Given the description of an element on the screen output the (x, y) to click on. 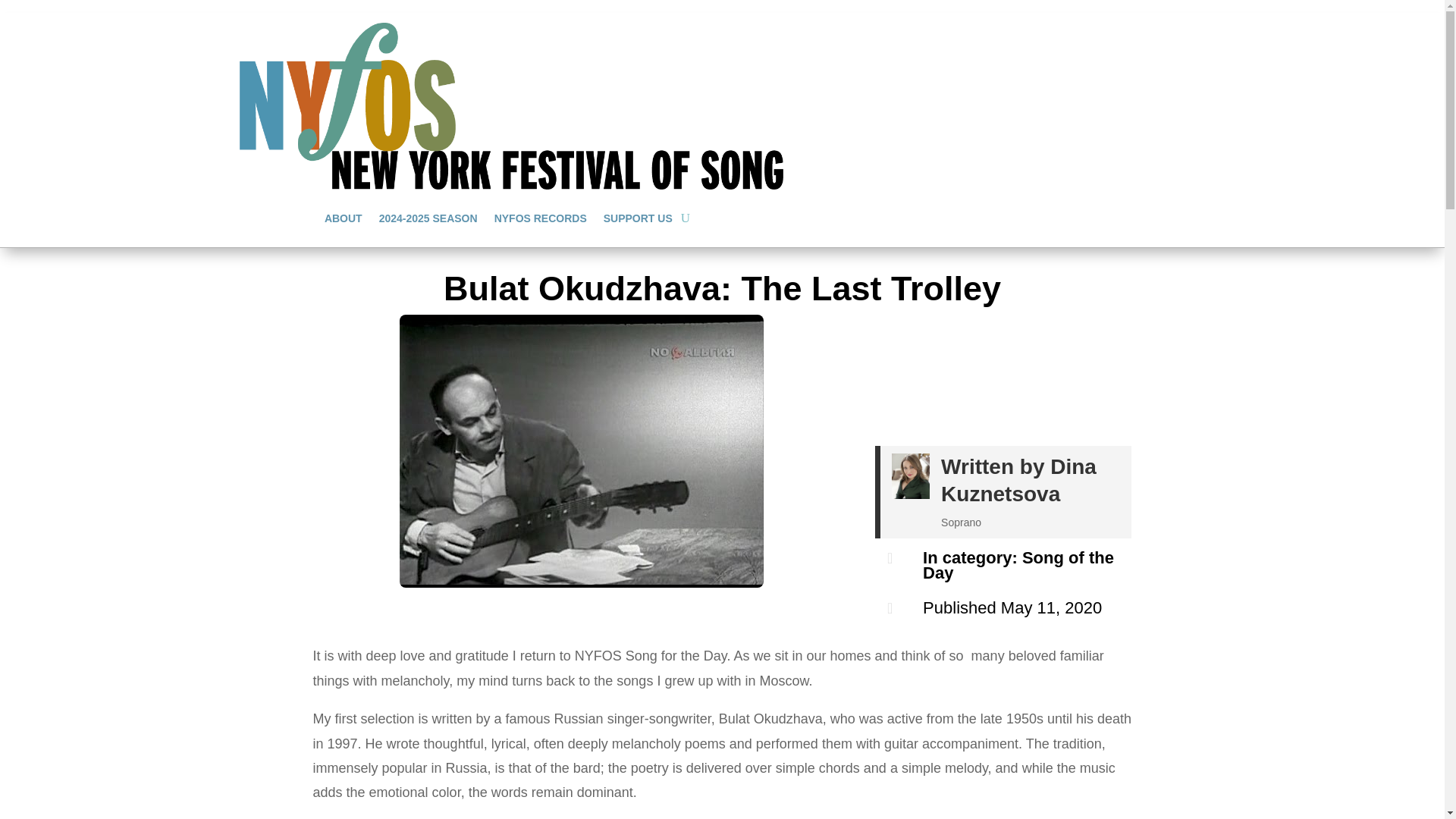
Song of the Day (1018, 564)
NYFOS RECORDS (540, 218)
Dina Kuznetsova (1018, 480)
SUPPORT US (638, 218)
2024-2025 SEASON (427, 218)
DSC02807 (580, 451)
